Given the description of an element on the screen output the (x, y) to click on. 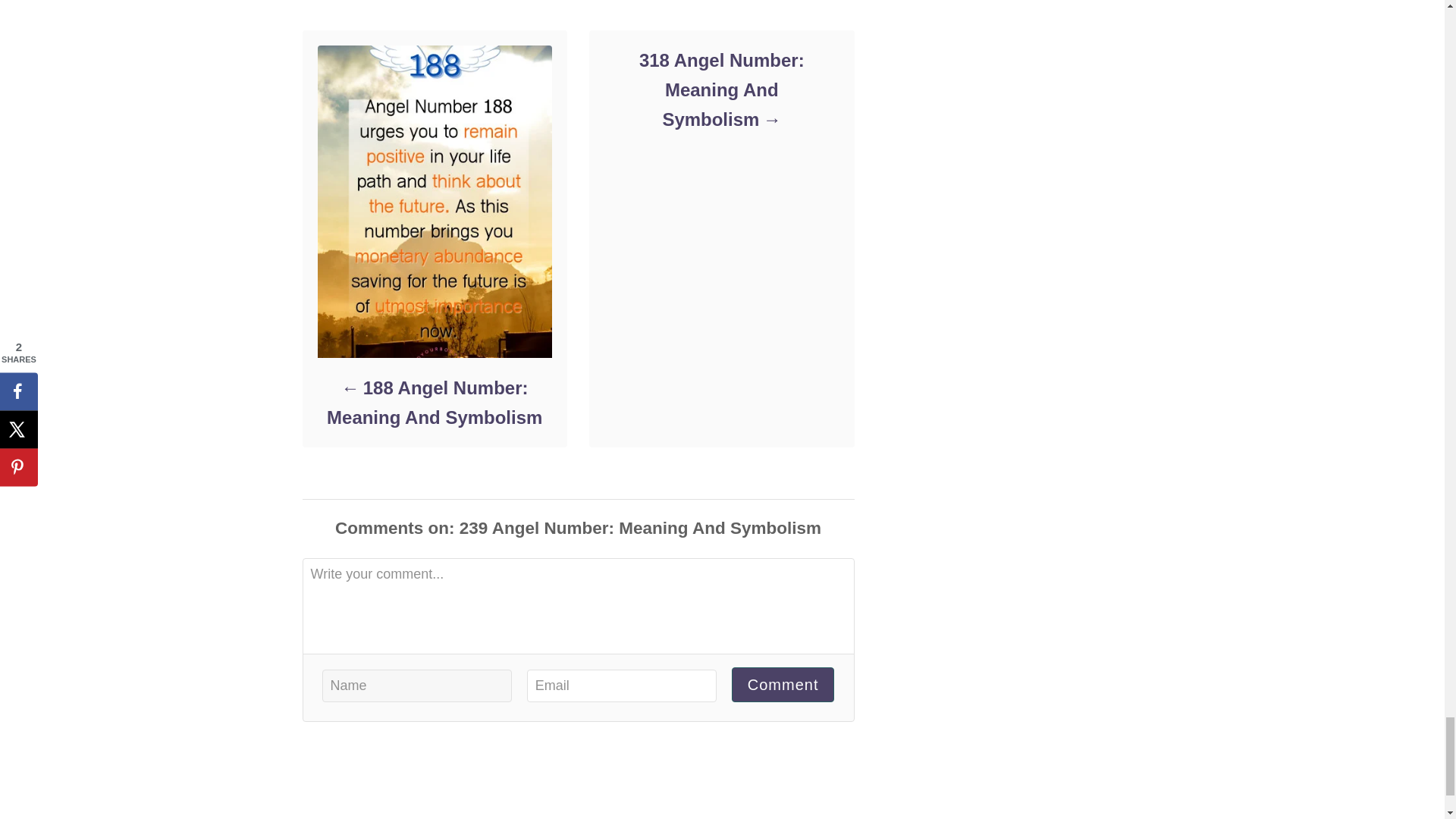
188 Angel Number: Meaning And Symbolism (434, 402)
318 Angel Number: Meaning And Symbolism (721, 89)
Comment (783, 684)
